Given the description of an element on the screen output the (x, y) to click on. 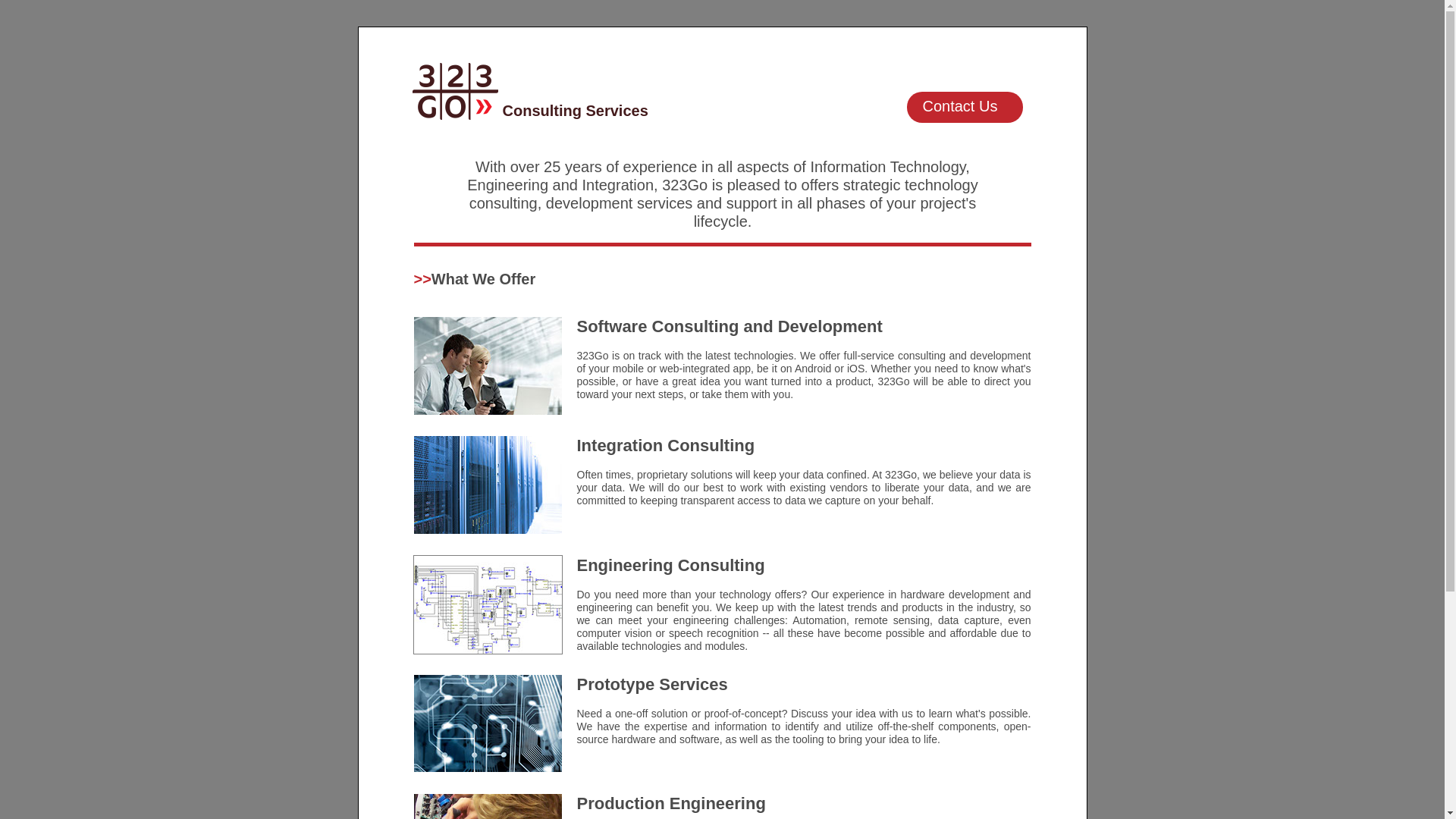
Contact Us Element type: text (964, 106)
